Given the description of an element on the screen output the (x, y) to click on. 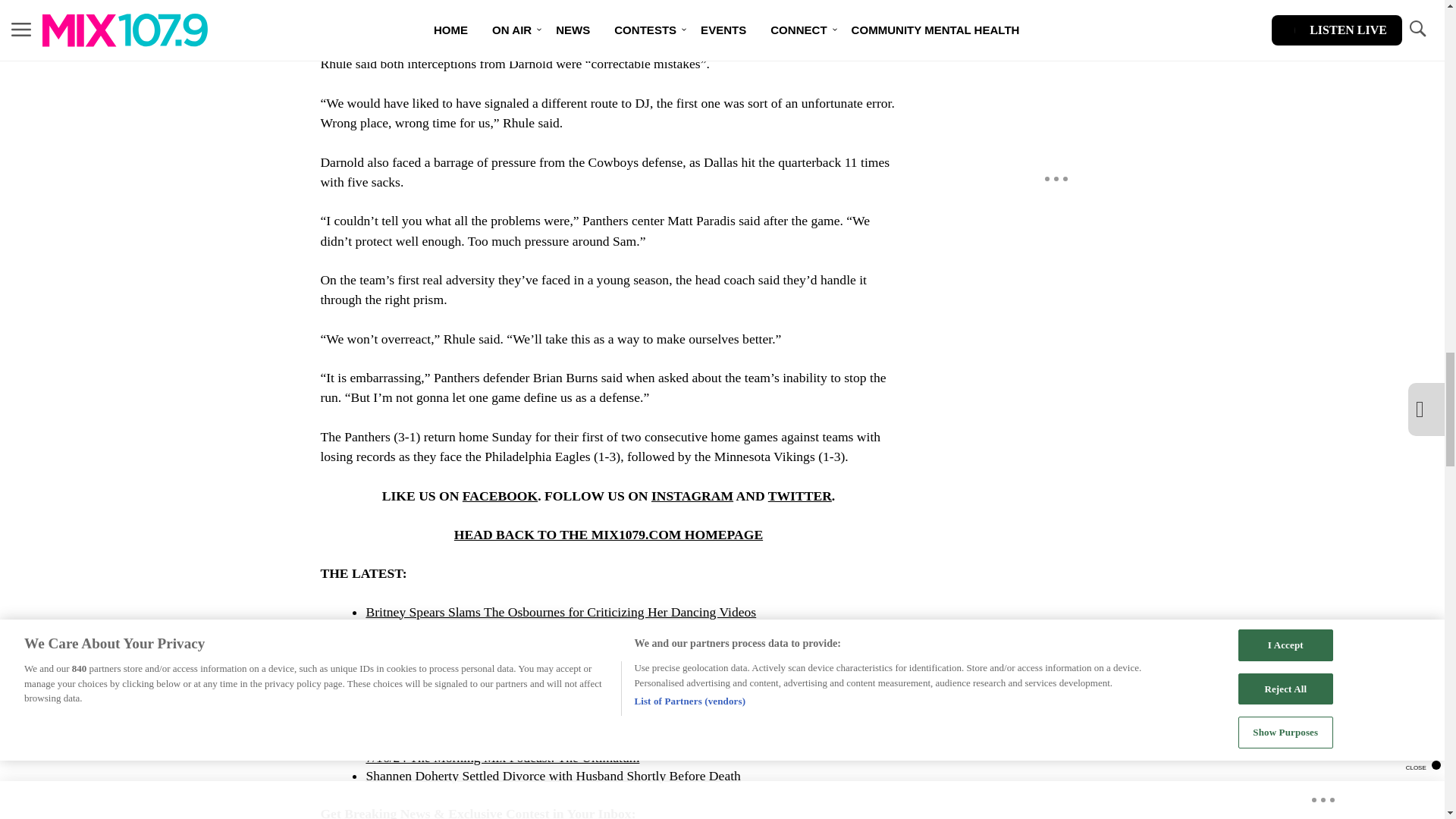
INSTAGRAM (691, 495)
Biden Tests Positive For Covid Again (466, 648)
FACEBOOK (500, 495)
HEAD BACK TO THE MIX1079.COM HOMEPAGE (608, 534)
TWITTER (799, 495)
